Given the description of an element on the screen output the (x, y) to click on. 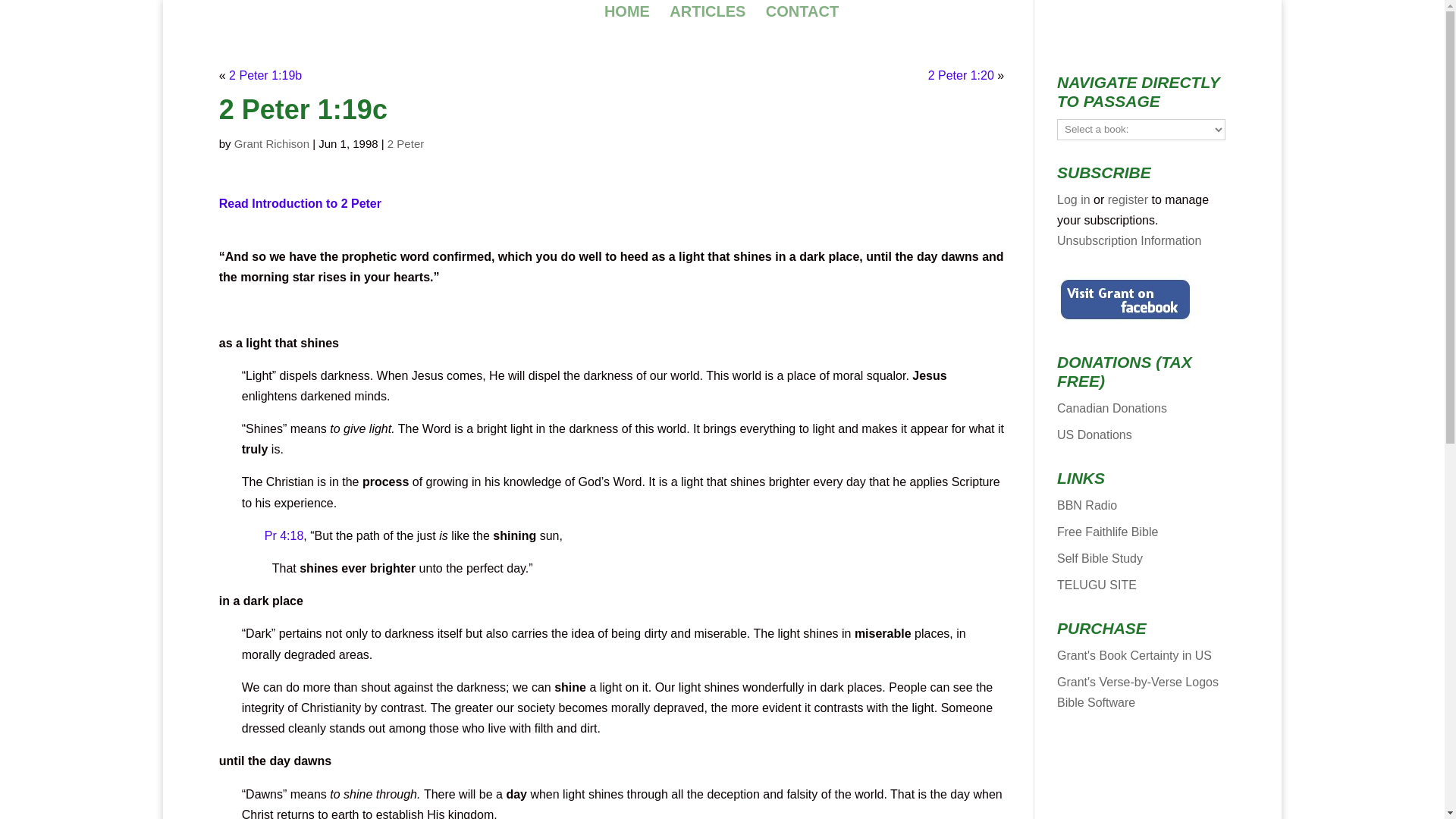
Self Bible Study (1099, 558)
Posts by Grant Richison (271, 143)
2 Peter 1:20 (961, 74)
Unsubscription Information (1129, 240)
Grant's Verse-by-Verse Logos Bible Software (1137, 692)
HOME (626, 12)
Videos on the Bible (1086, 504)
Canadian Donations (1112, 408)
Free Faithlife Bible (1107, 531)
2 Peter (405, 143)
ARTICLES (707, 12)
Log in (1073, 199)
Grant's Book Certainty in US (1134, 655)
Read Introduction to 2 Peter (300, 203)
Pr 4:18 (284, 535)
